Given the description of an element on the screen output the (x, y) to click on. 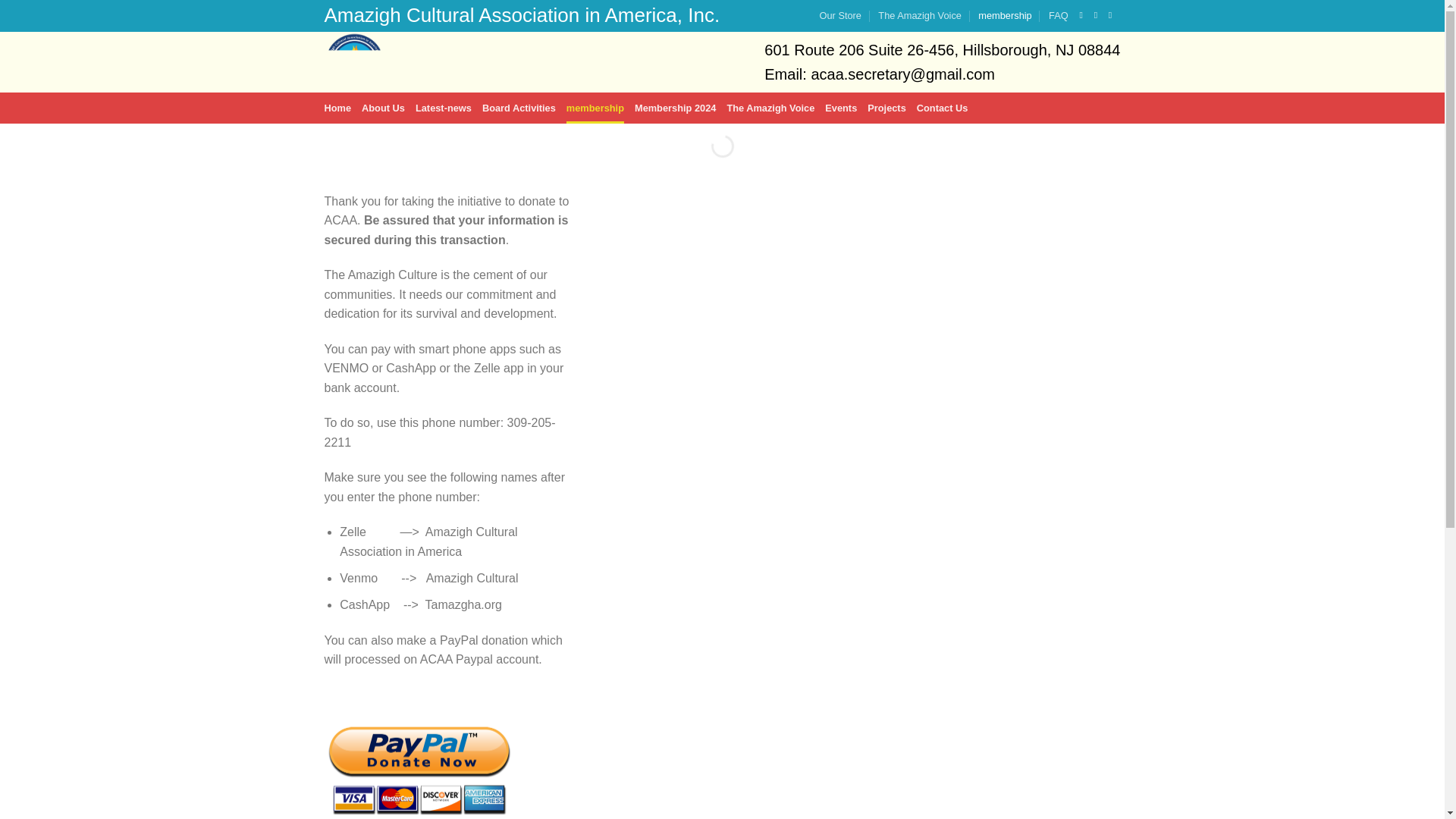
About Us (382, 107)
PayPal - The safer, easier way to pay online! (418, 761)
Projects (886, 107)
The Amazigh Voice (918, 15)
The Amazigh Voice (769, 107)
Latest-news (442, 107)
membership (595, 107)
Our Store (839, 15)
Events (841, 107)
Board Activities (518, 107)
Membership 2024 (675, 107)
membership (1004, 15)
Contact Us (942, 107)
